Given the description of an element on the screen output the (x, y) to click on. 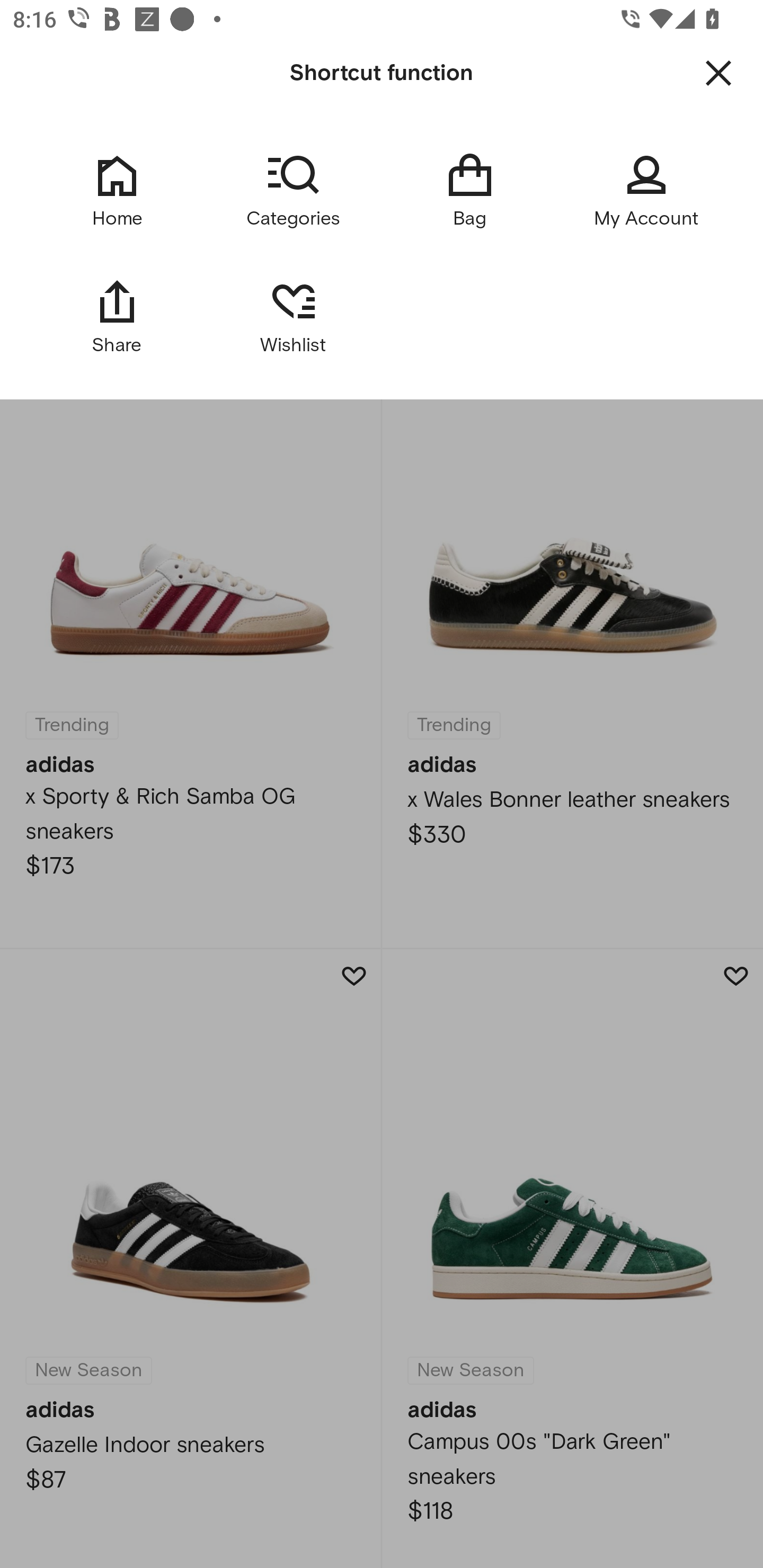
Home (116, 190)
Categories (293, 190)
Bag (469, 190)
My Account (645, 190)
Share (116, 316)
Wishlist (293, 316)
